Given the description of an element on the screen output the (x, y) to click on. 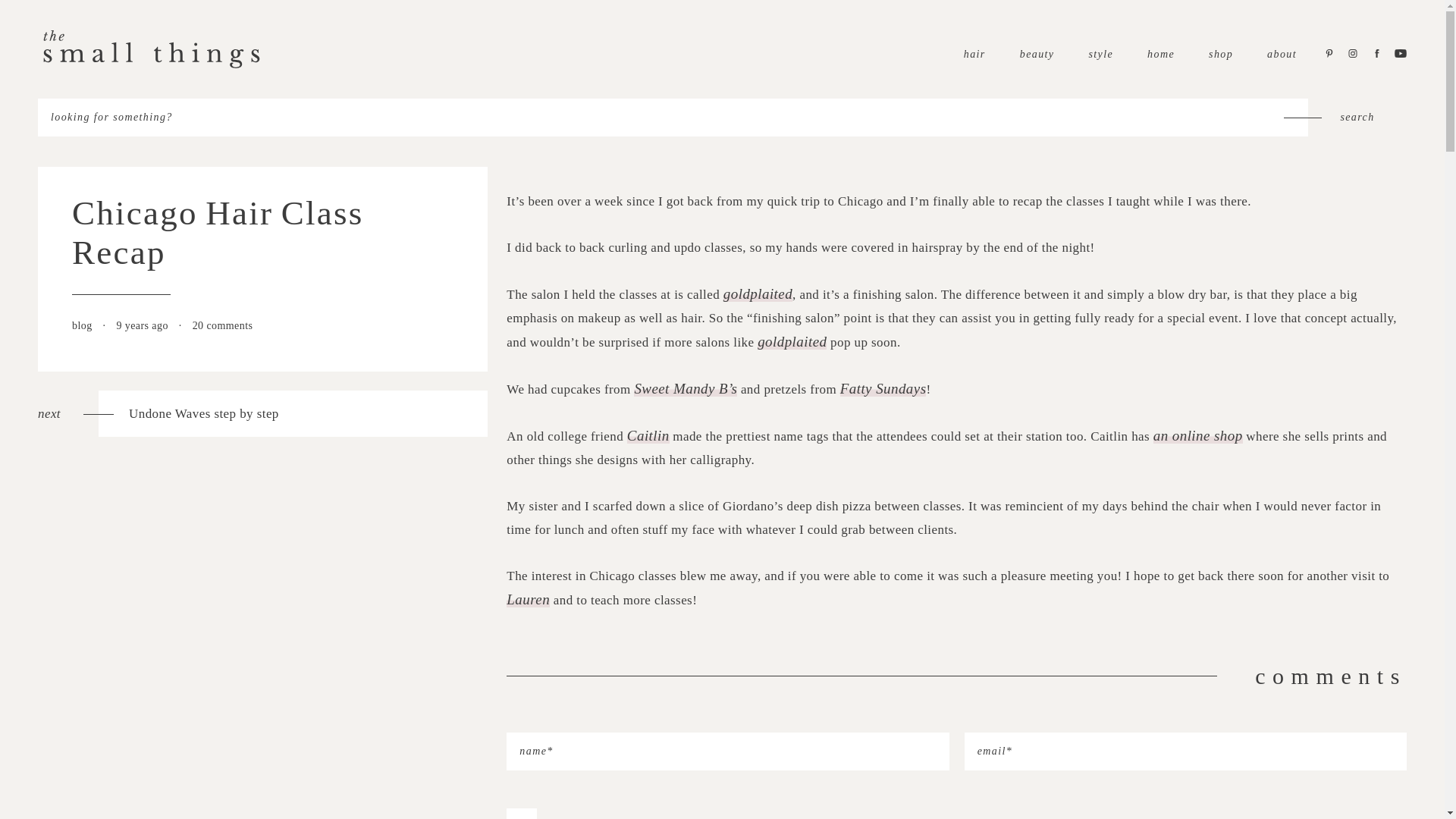
blog (83, 325)
Fatty Sundays (883, 388)
search (262, 413)
about (1356, 117)
style (1281, 53)
shop (1100, 53)
search (1220, 53)
beauty (1356, 117)
search (1037, 53)
